Given the description of an element on the screen output the (x, y) to click on. 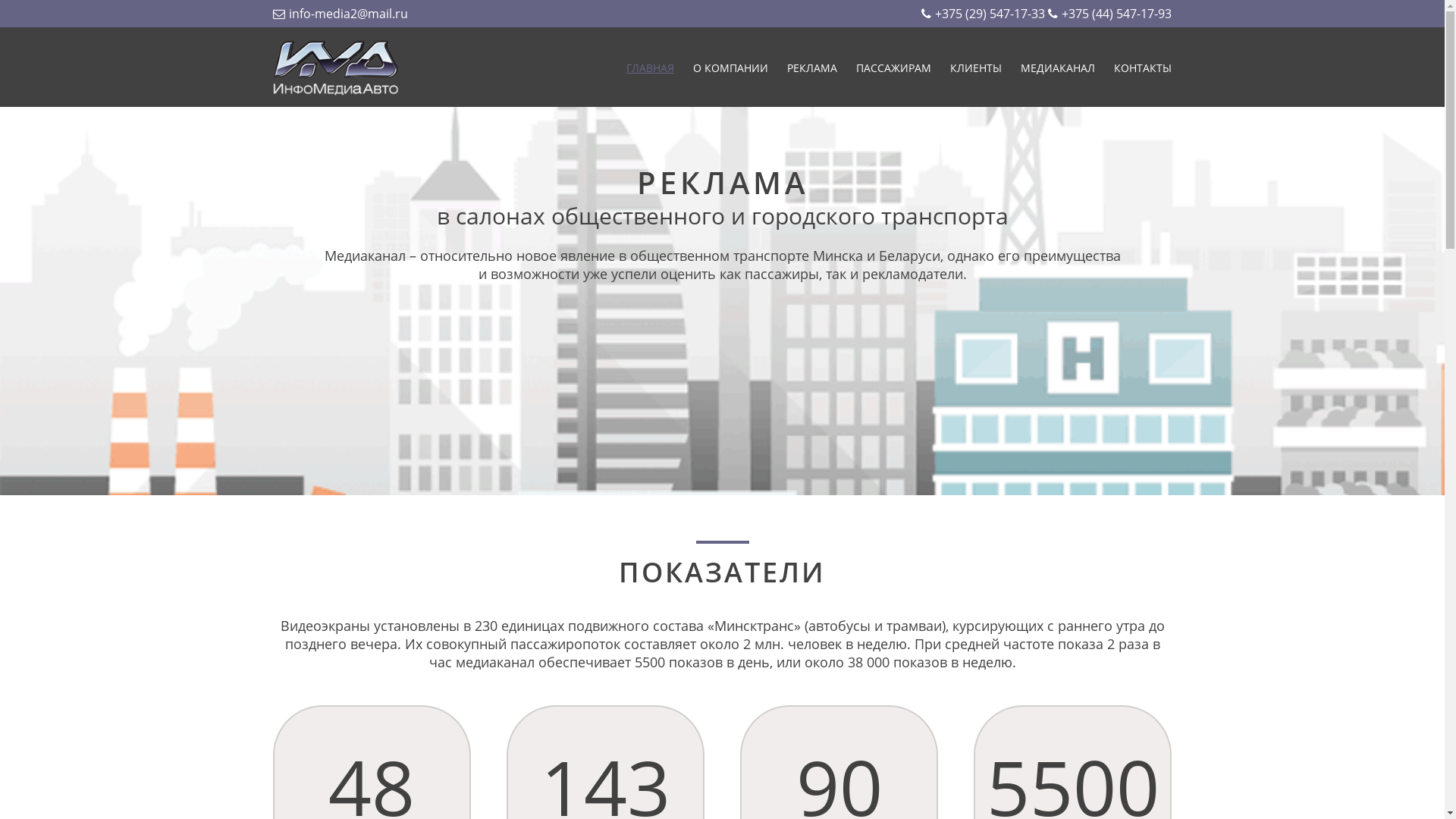
+375 (29) 547-17-33 Element type: text (982, 13)
+375 (44) 547-17-93 Element type: text (1109, 13)
info-media2@mail.ru Element type: text (340, 13)
